Given the description of an element on the screen output the (x, y) to click on. 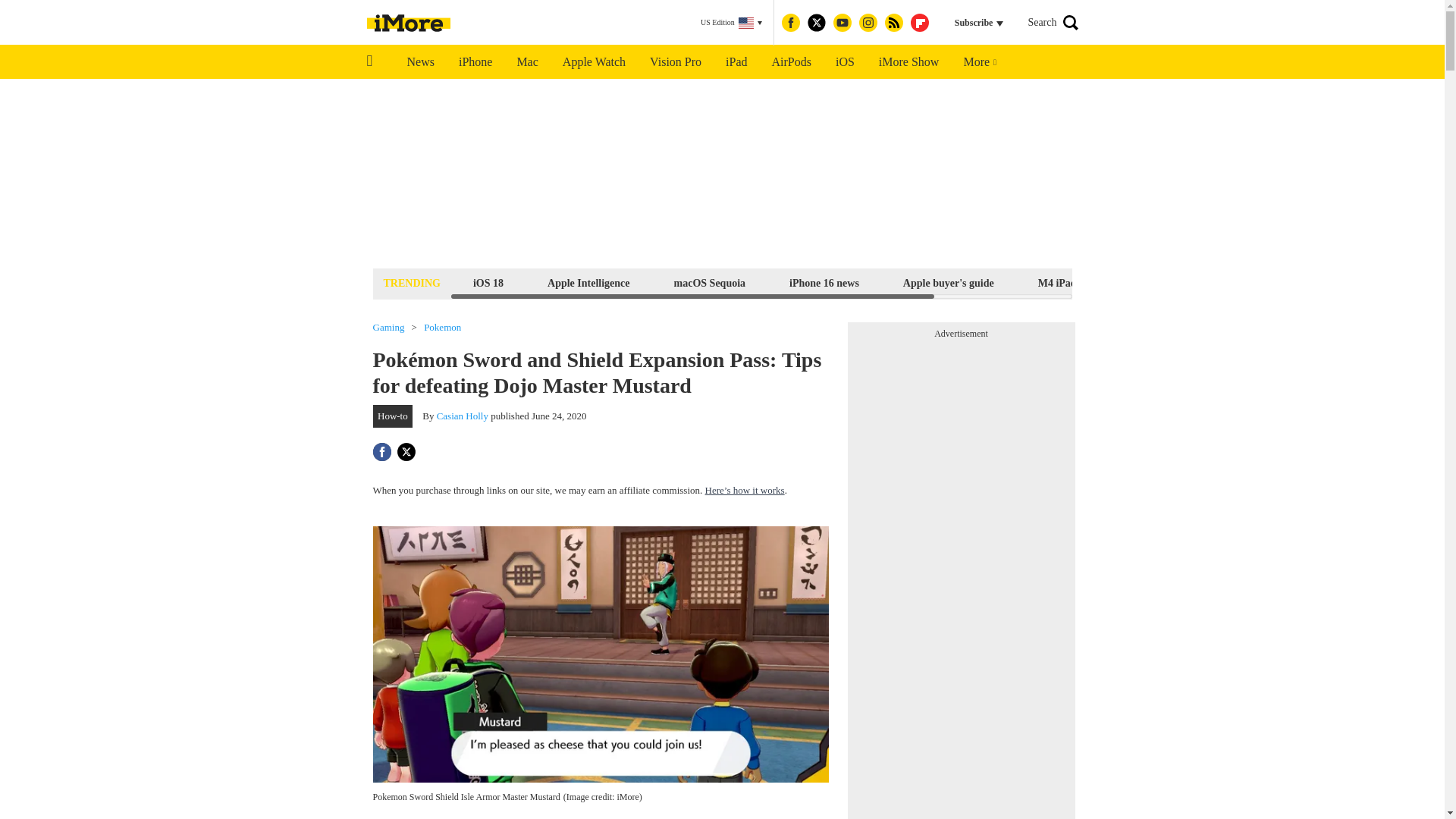
Vision Pro (675, 61)
AirPods (792, 61)
Mac (526, 61)
iPad (735, 61)
iMore Show (909, 61)
iOS (845, 61)
US Edition (731, 22)
Apple Watch (593, 61)
iPhone (474, 61)
News (419, 61)
